Given the description of an element on the screen output the (x, y) to click on. 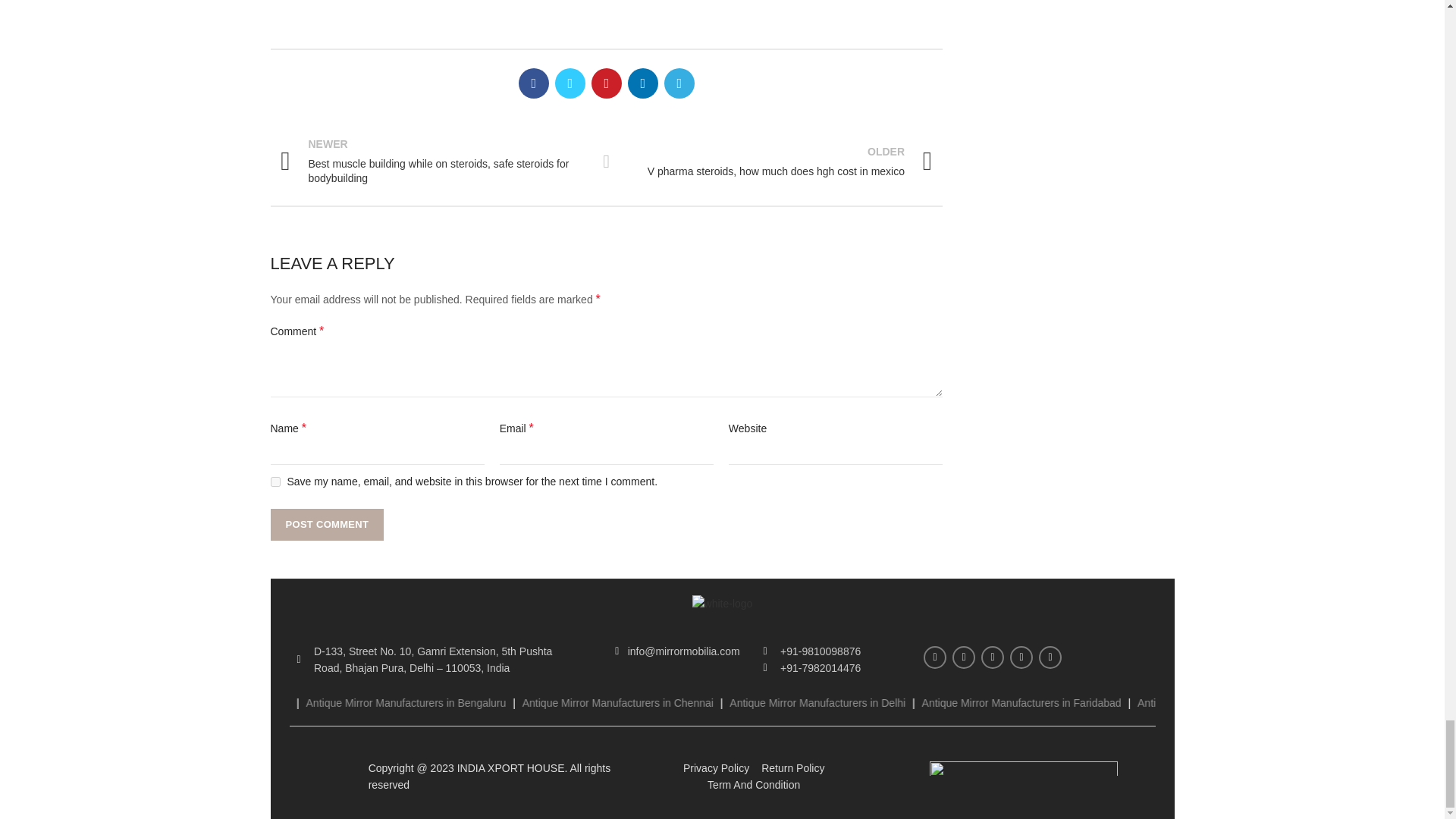
white-logo (722, 603)
yes (274, 481)
Post Comment (326, 524)
